Given the description of an element on the screen output the (x, y) to click on. 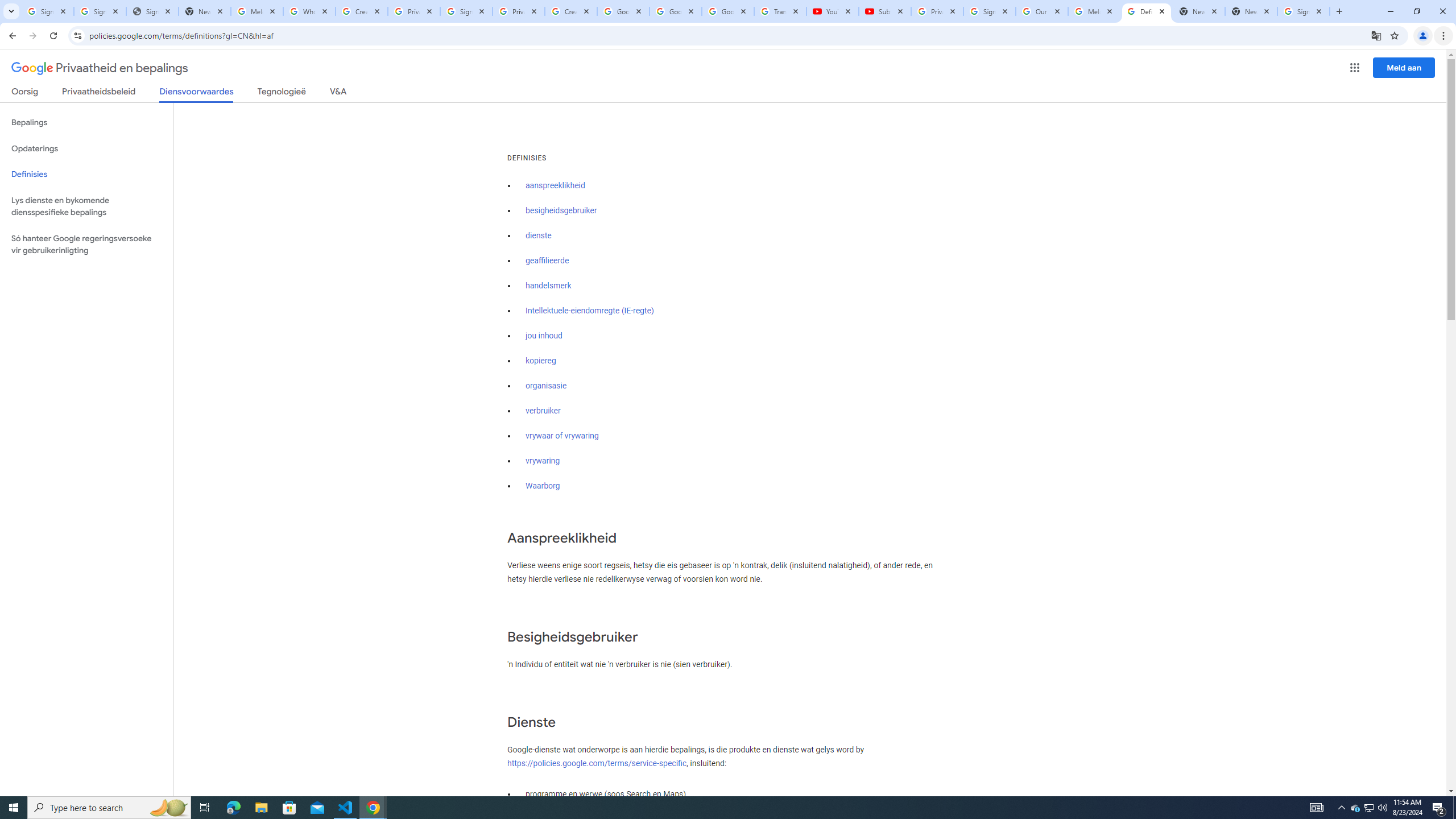
organisasie (545, 385)
dienste (538, 235)
Bepalings (86, 122)
Opdaterings (86, 148)
Sign in - Google Accounts (47, 11)
Sign in - Google Accounts (1303, 11)
